Given the description of an element on the screen output the (x, y) to click on. 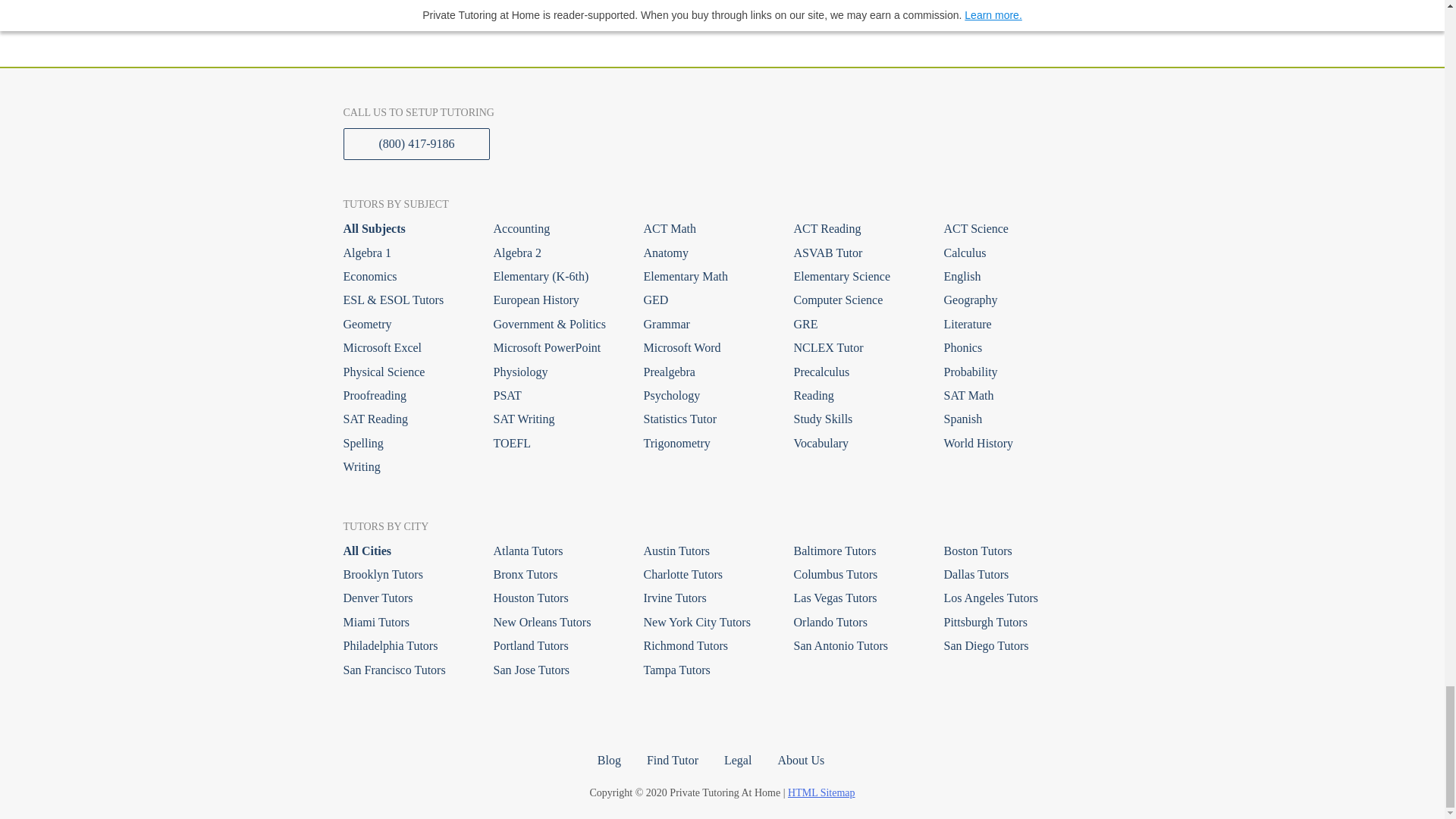
Algebra 2 (557, 252)
ASVAB Tutor (857, 252)
ACT Science (1007, 228)
ACT Math (707, 228)
Algebra 1 (406, 252)
HTML Sitemap (821, 792)
Anatomy (707, 252)
Calculus (1007, 252)
ACT Reading (857, 228)
Accounting (557, 228)
Economics (406, 276)
All Subjects (406, 228)
